Given the description of an element on the screen output the (x, y) to click on. 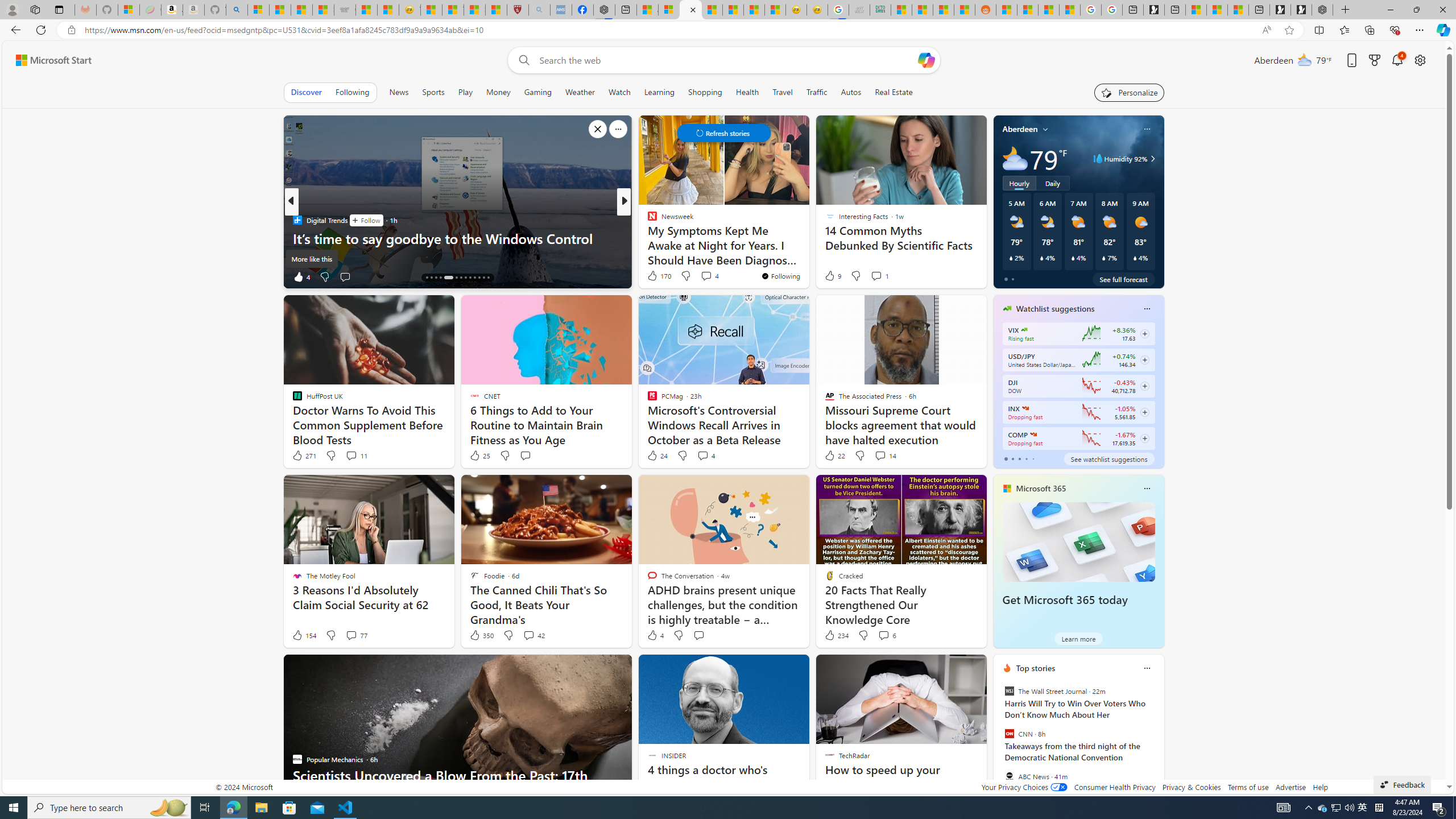
View comments 5 Comment (702, 276)
View comments 231 Comment (705, 276)
View comments 6 Comment (887, 634)
AutomationID: tab-15 (431, 277)
636 Like (654, 276)
AutomationID: tab-26 (488, 277)
View comments 85 Comment (6, 276)
